Given the description of an element on the screen output the (x, y) to click on. 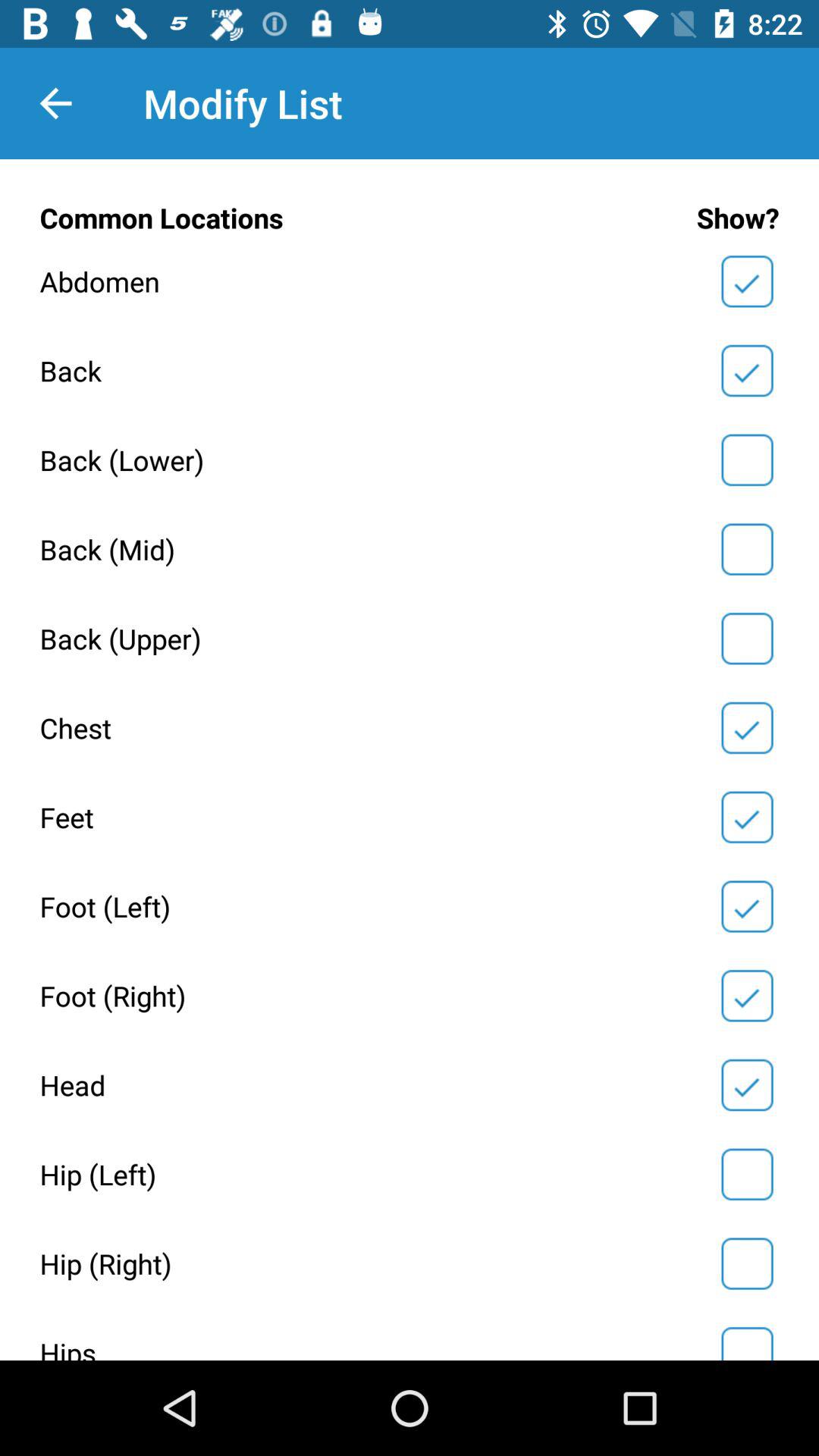
yes/no selection box (747, 1174)
